Given the description of an element on the screen output the (x, y) to click on. 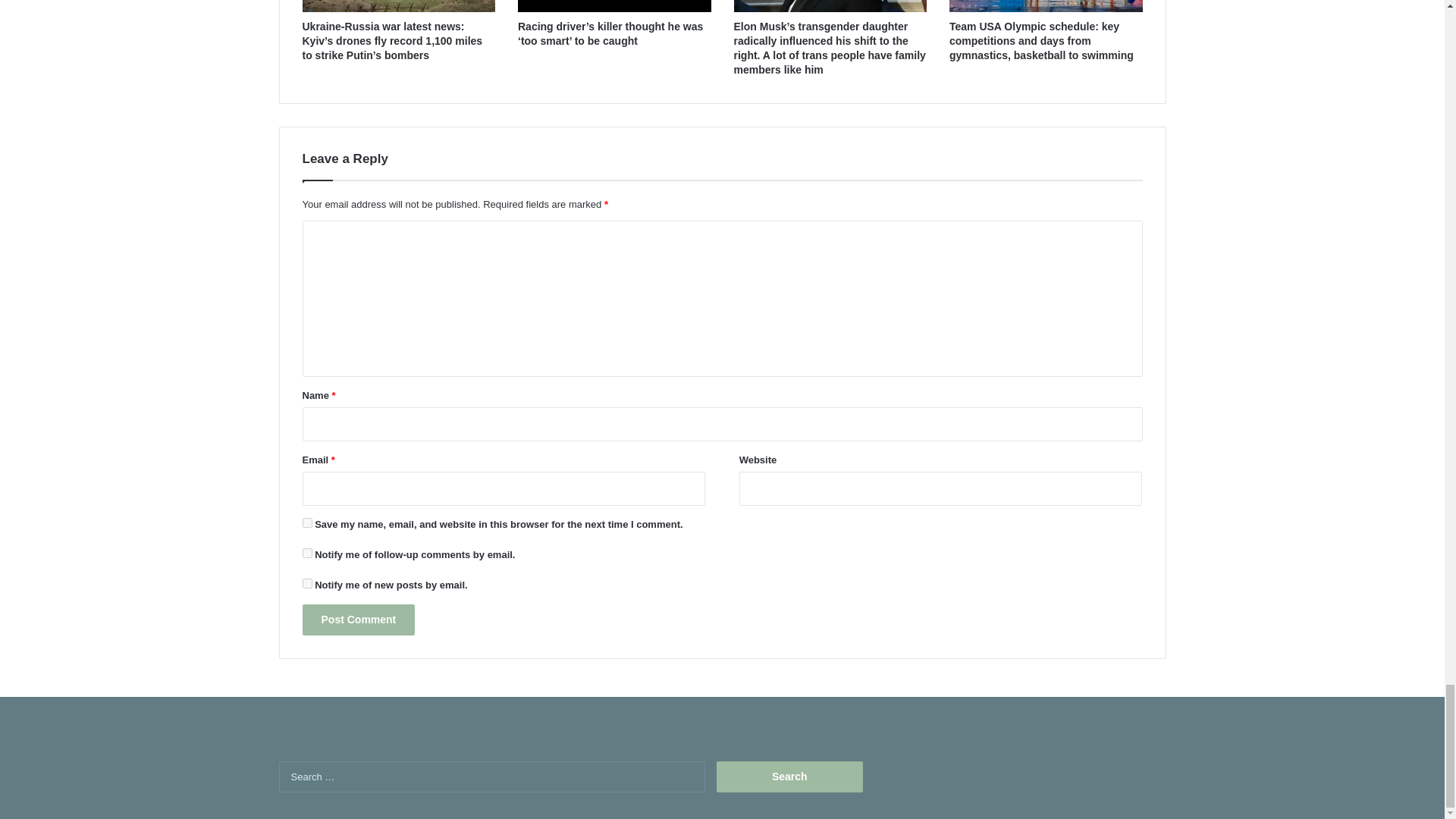
Search (789, 776)
yes (306, 522)
subscribe (306, 583)
Search (789, 776)
Post Comment (357, 619)
subscribe (306, 552)
